Given the description of an element on the screen output the (x, y) to click on. 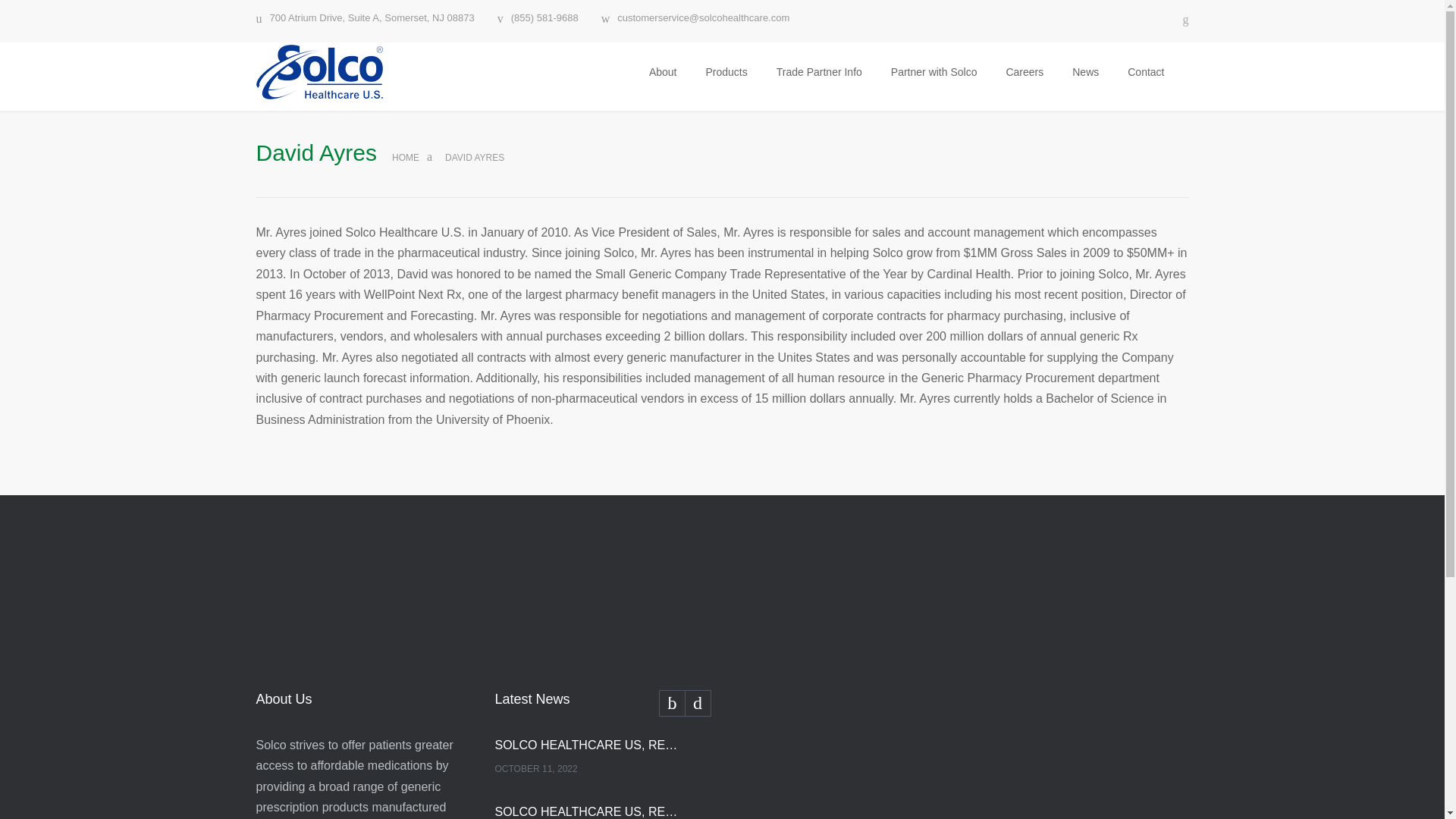
Products (726, 72)
News (1085, 72)
Latest News (602, 702)
October 11, 2022 (586, 768)
Home (405, 157)
Contact (1145, 72)
Partner with Solco (934, 72)
